Given the description of an element on the screen output the (x, y) to click on. 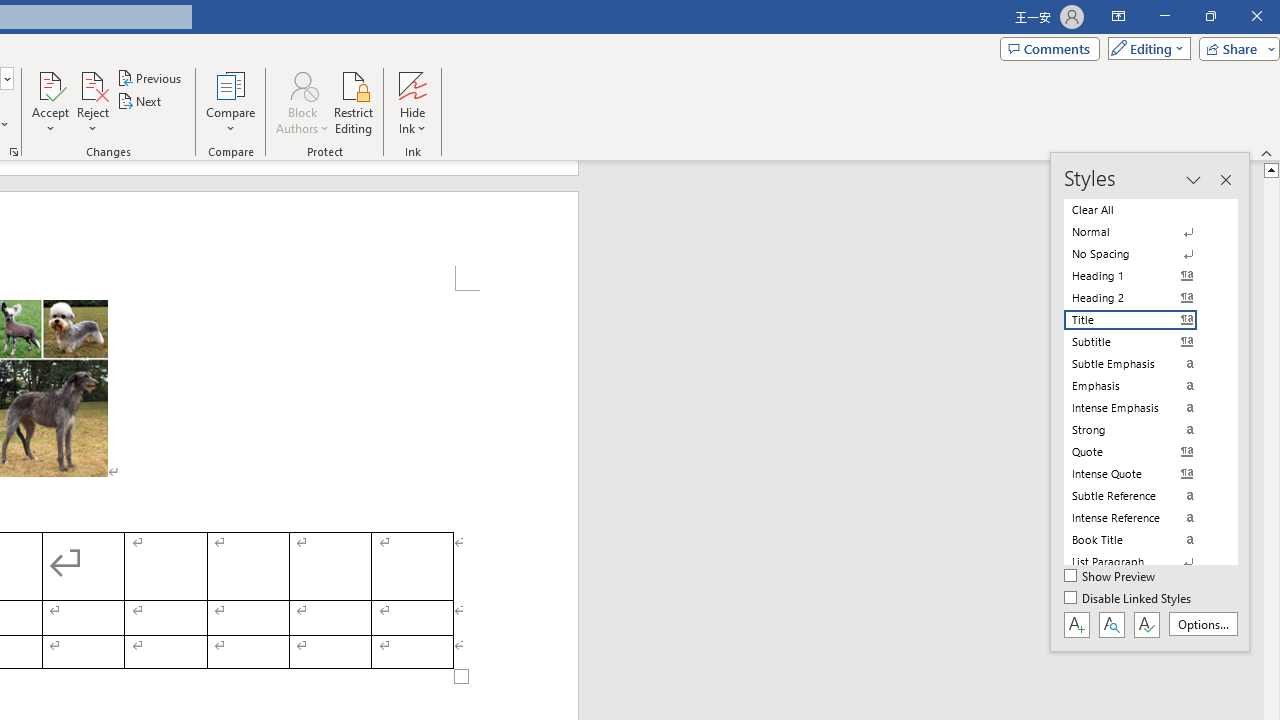
Heading 2 (1142, 297)
Clear All (1142, 209)
Subtitle (1142, 341)
Emphasis (1142, 385)
Quote (1142, 451)
Close pane (1225, 179)
Accept and Move to Next (50, 84)
Open (6, 78)
Line up (1271, 169)
Accept (50, 102)
Next (140, 101)
Hide Ink (412, 84)
Class: MsoCommandBar (1149, 401)
Options... (1202, 623)
